Given the description of an element on the screen output the (x, y) to click on. 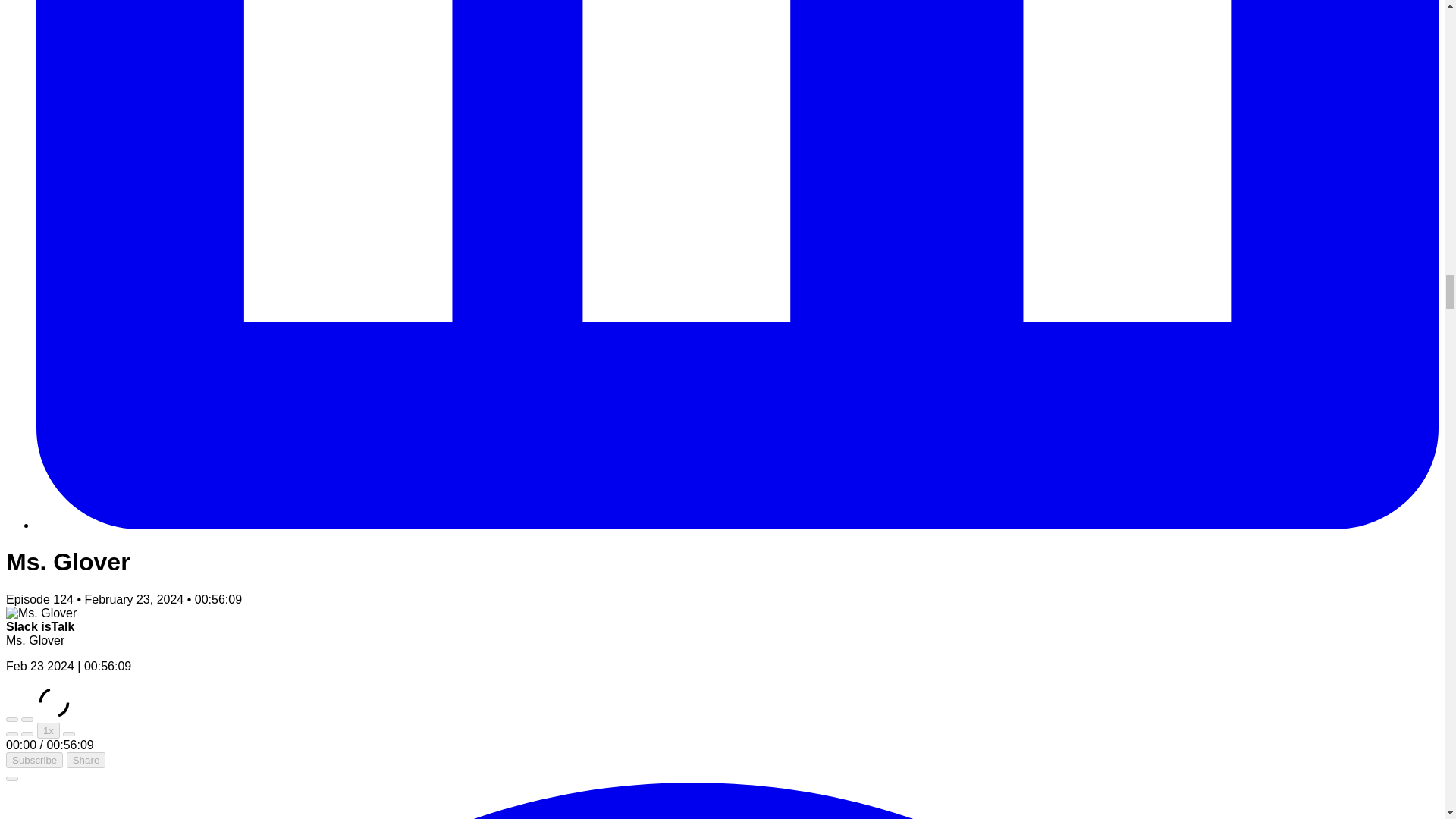
Subscribe (33, 760)
1x (48, 730)
Share (86, 760)
